Given the description of an element on the screen output the (x, y) to click on. 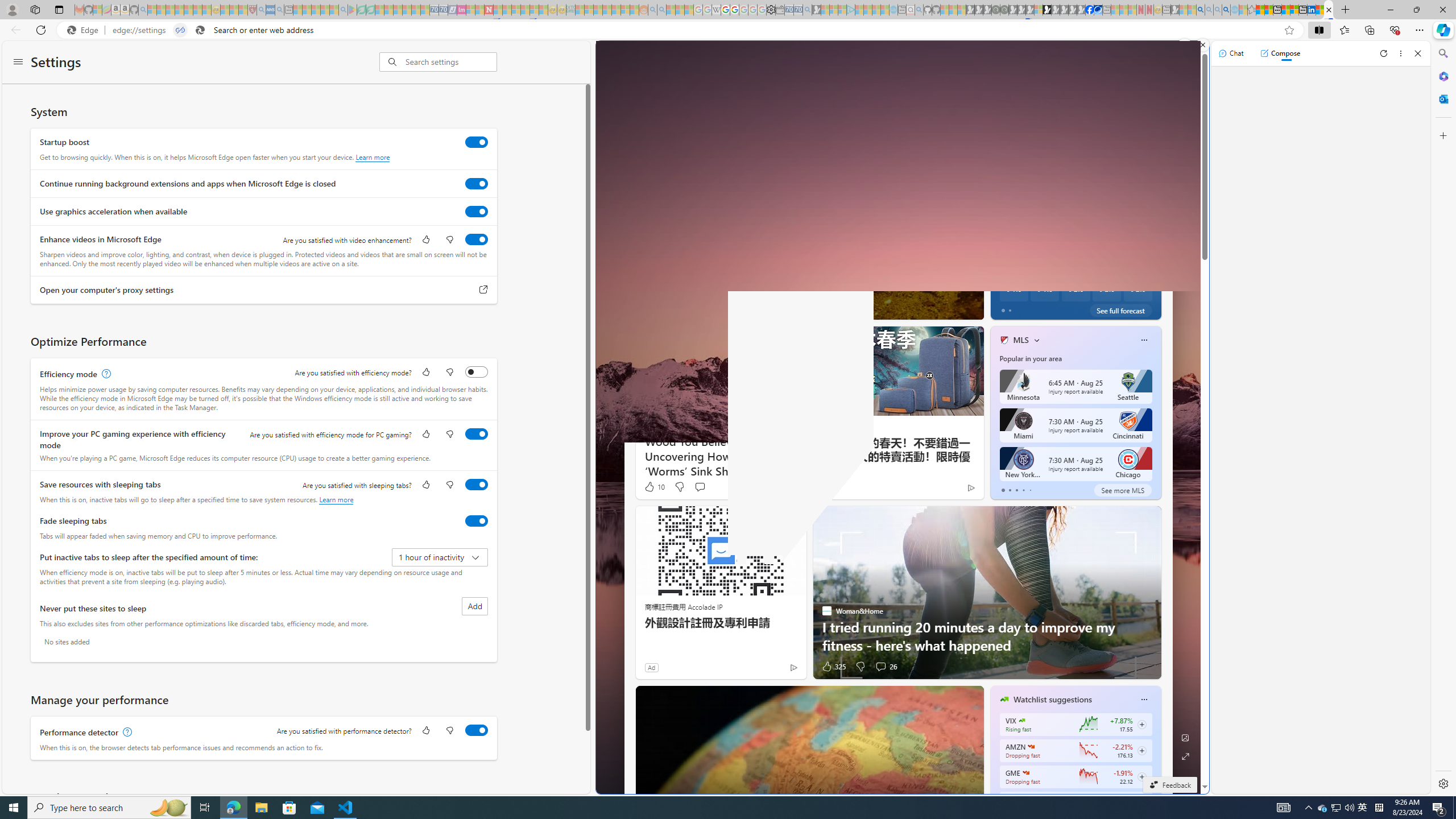
Edge (84, 29)
AutomationID: tab-18 (799, 308)
Far & Wide (999, 269)
